Given the description of an element on the screen output the (x, y) to click on. 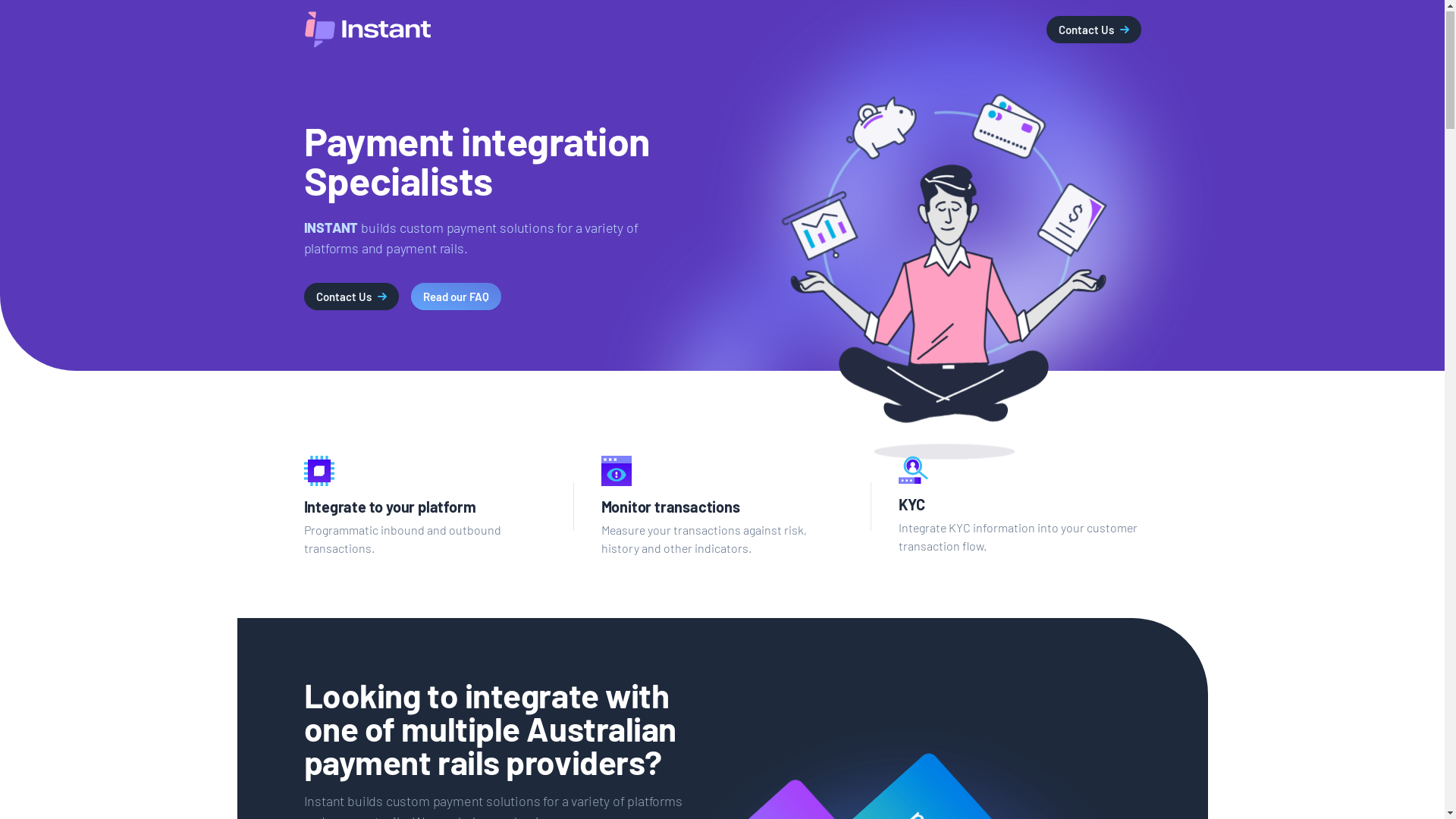
Contact Us Element type: text (1093, 29)
Contact Us Element type: text (350, 296)
Read our FAQ Element type: text (456, 296)
